Given the description of an element on the screen output the (x, y) to click on. 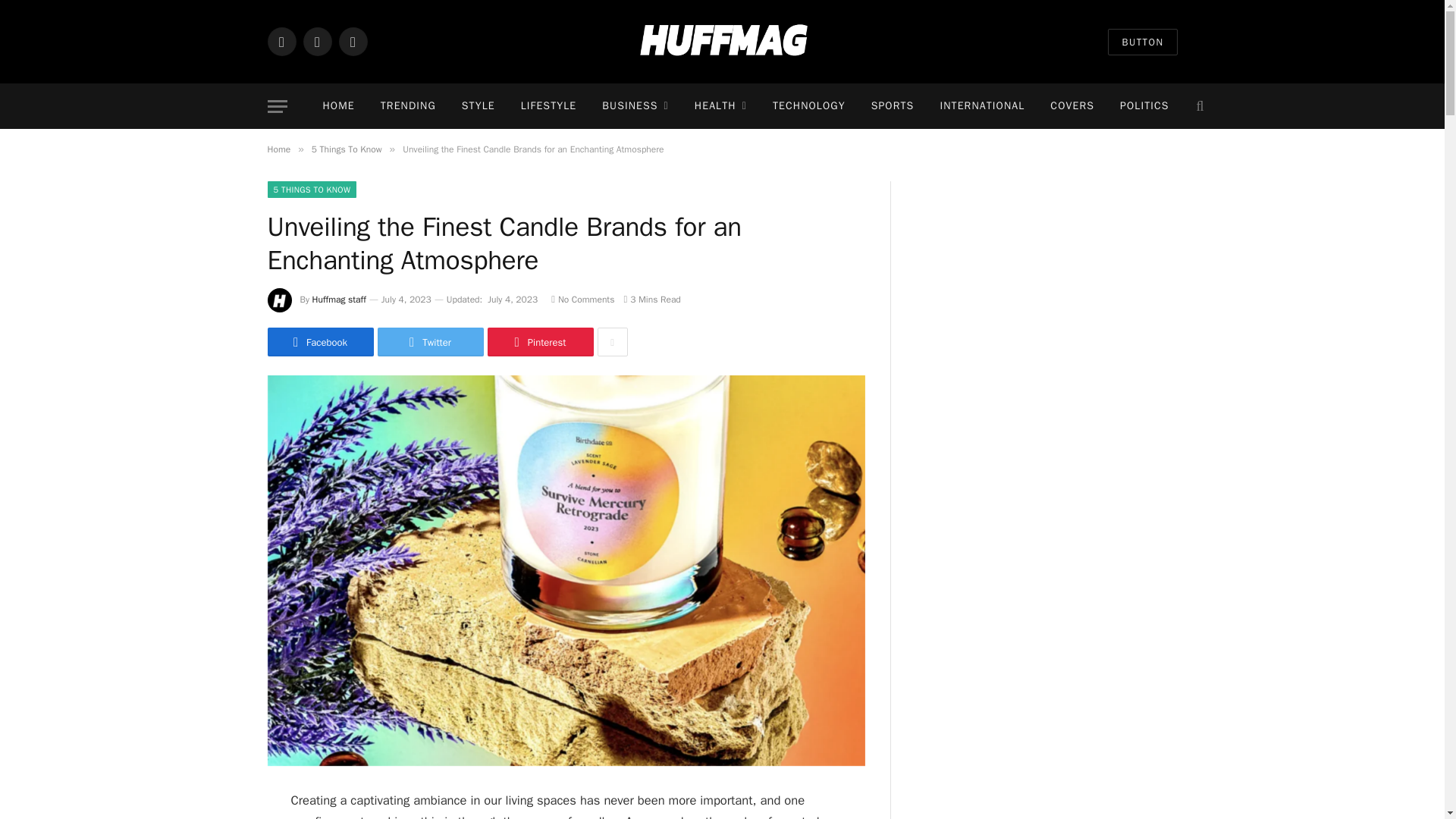
BUSINESS (635, 105)
Posts by Huffmag staff (339, 299)
5 Things To Know (346, 149)
TRENDING (408, 105)
STYLE (478, 105)
Instagram (351, 41)
COVERS (1071, 105)
POLITICS (1144, 105)
Home (277, 149)
TECHNOLOGY (809, 105)
HOME (337, 105)
INTERNATIONAL (981, 105)
Facebook (280, 41)
5 THINGS TO KNOW (311, 189)
No Comments (582, 299)
